Given the description of an element on the screen output the (x, y) to click on. 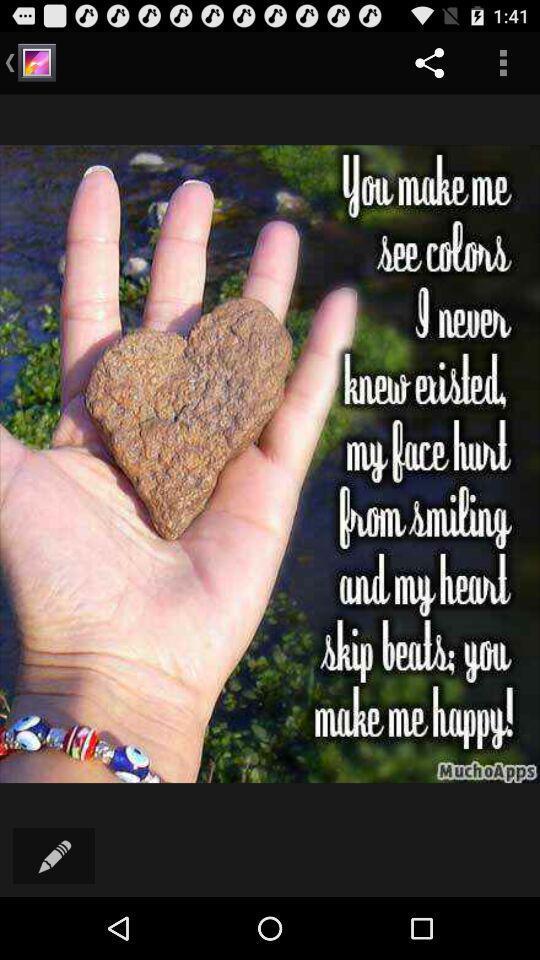
click the icon at the bottom left corner (53, 855)
